Given the description of an element on the screen output the (x, y) to click on. 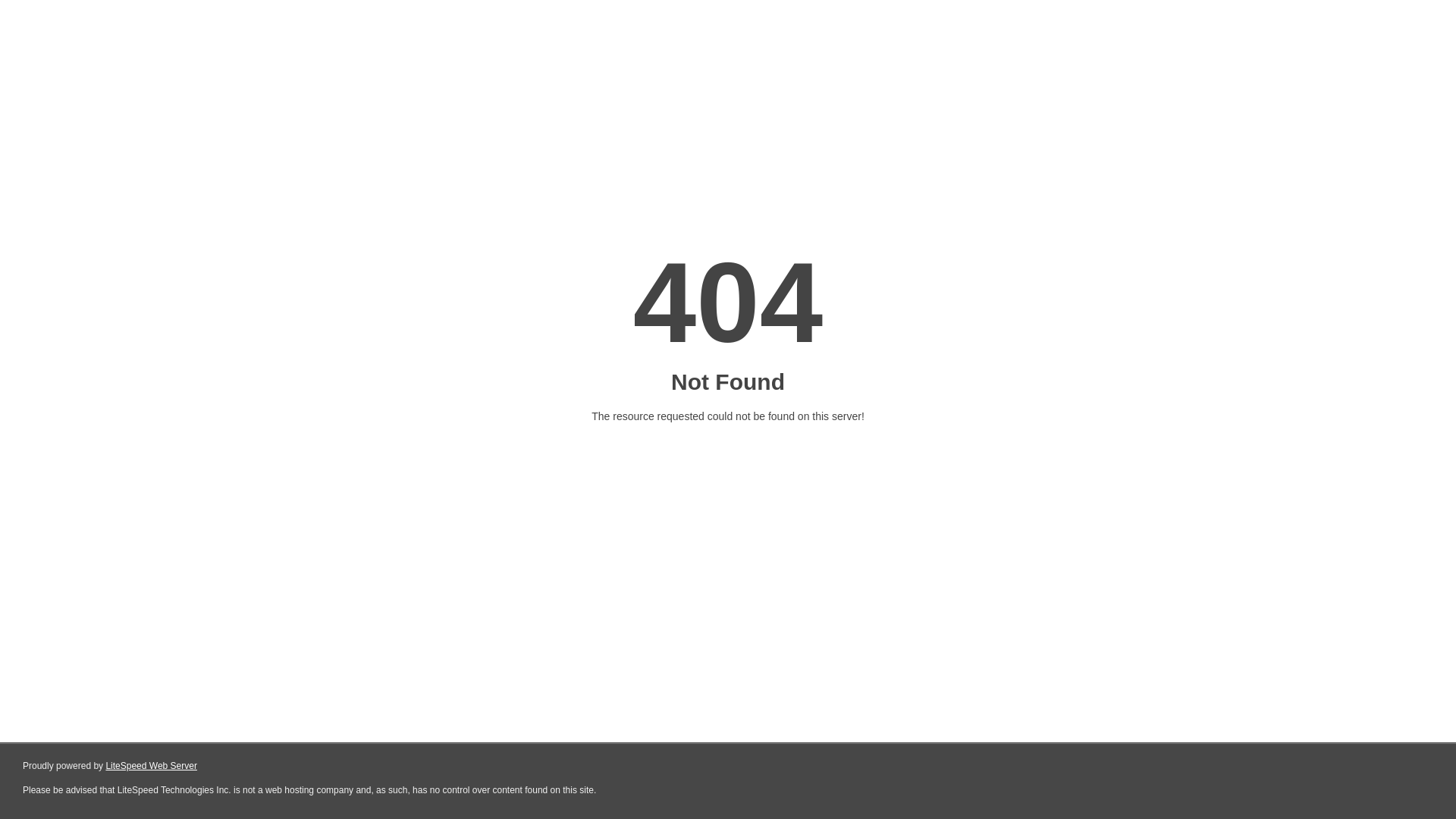
LiteSpeed Web Server Element type: text (151, 765)
